Given the description of an element on the screen output the (x, y) to click on. 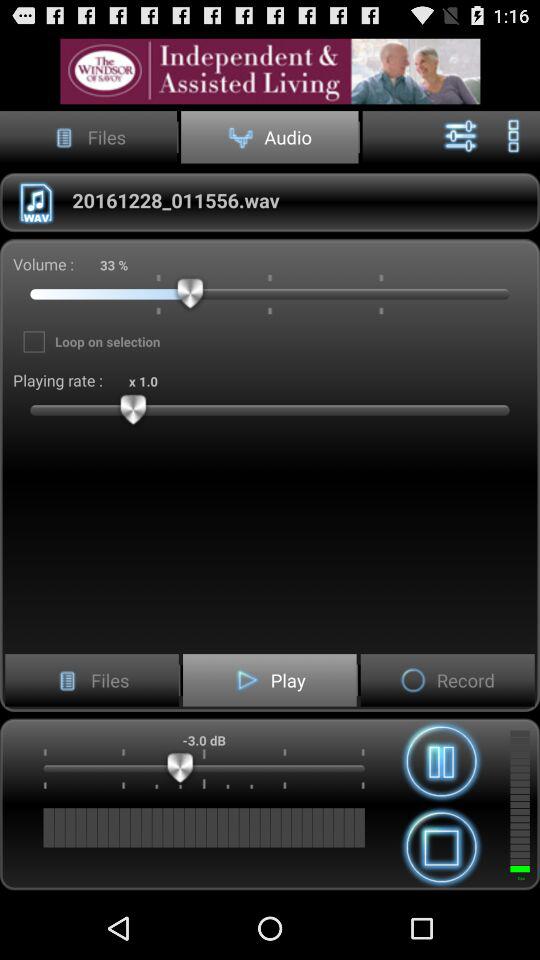
advatisment (270, 70)
